Given the description of an element on the screen output the (x, y) to click on. 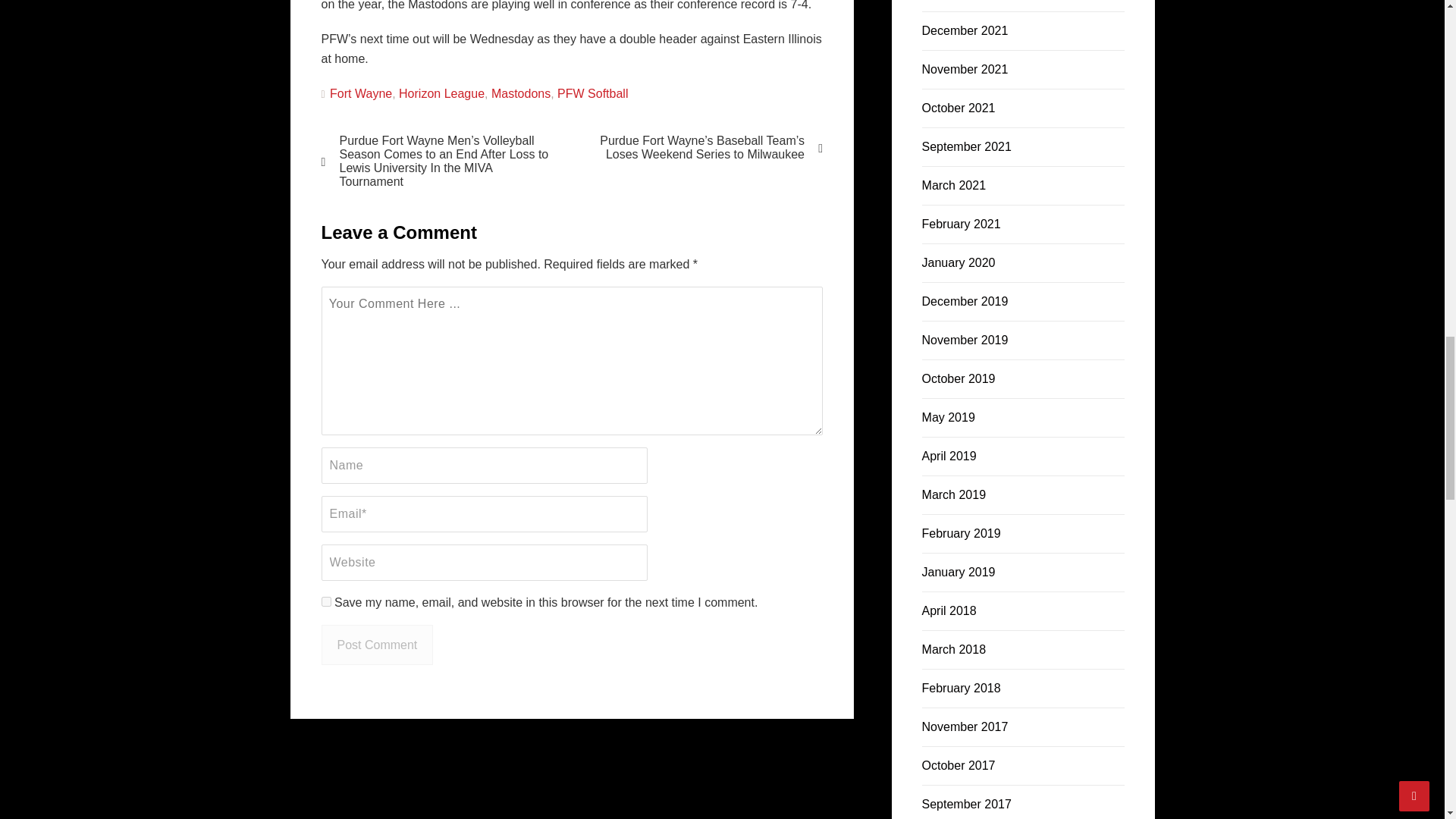
Horizon League (441, 92)
PFW Softball (592, 92)
Post Comment (377, 644)
Mastodons (521, 92)
yes (326, 601)
Fort Wayne (360, 92)
Post Comment (377, 644)
